Given the description of an element on the screen output the (x, y) to click on. 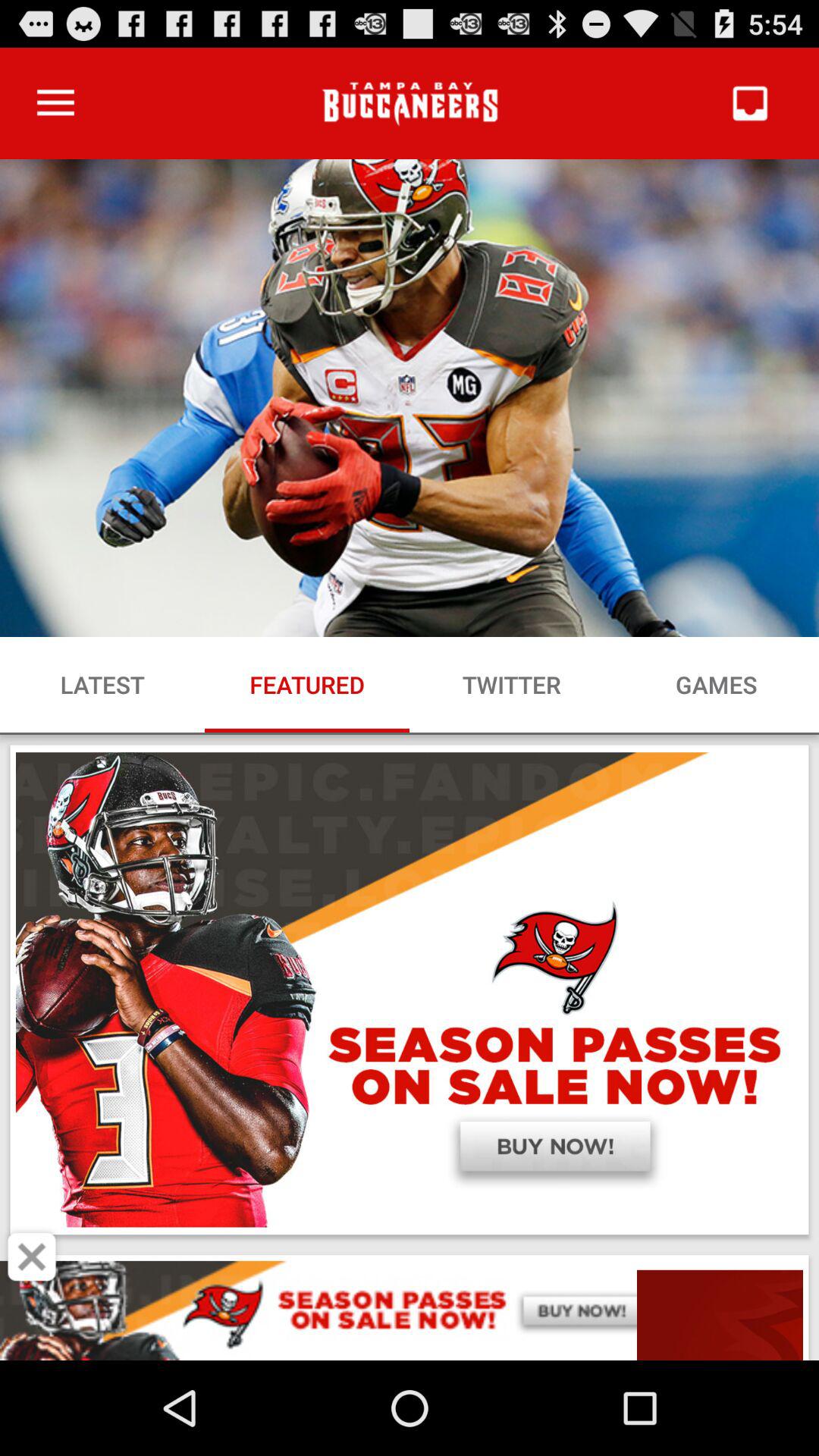
click the window close option (31, 1256)
